Given the description of an element on the screen output the (x, y) to click on. 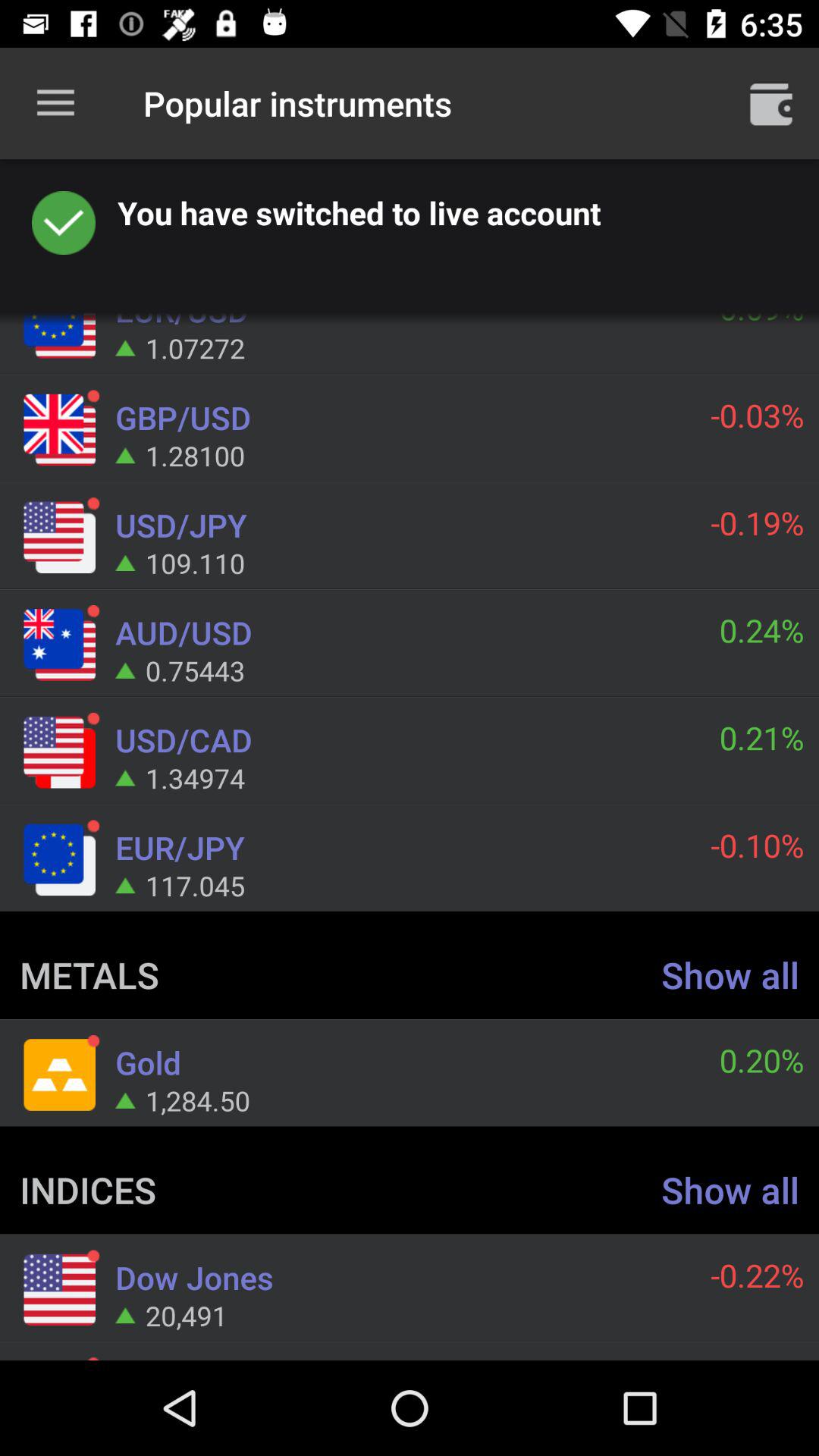
click icon to the left of popular instruments app (55, 103)
